Given the description of an element on the screen output the (x, y) to click on. 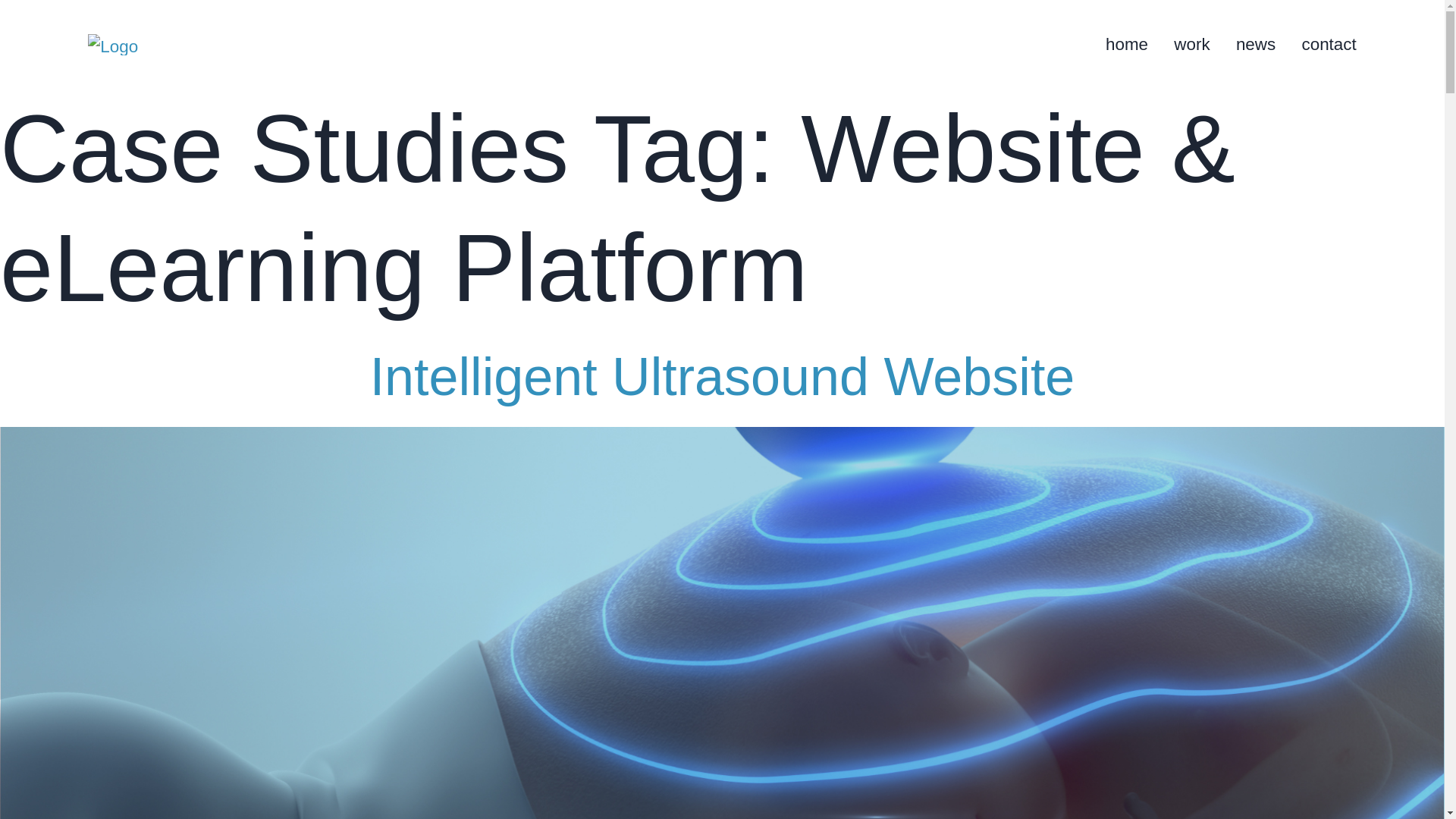
work (1191, 44)
Home (150, 44)
contact (1328, 44)
Intelligent Ultrasound Website (722, 376)
news (1255, 44)
home (1126, 44)
